Given the description of an element on the screen output the (x, y) to click on. 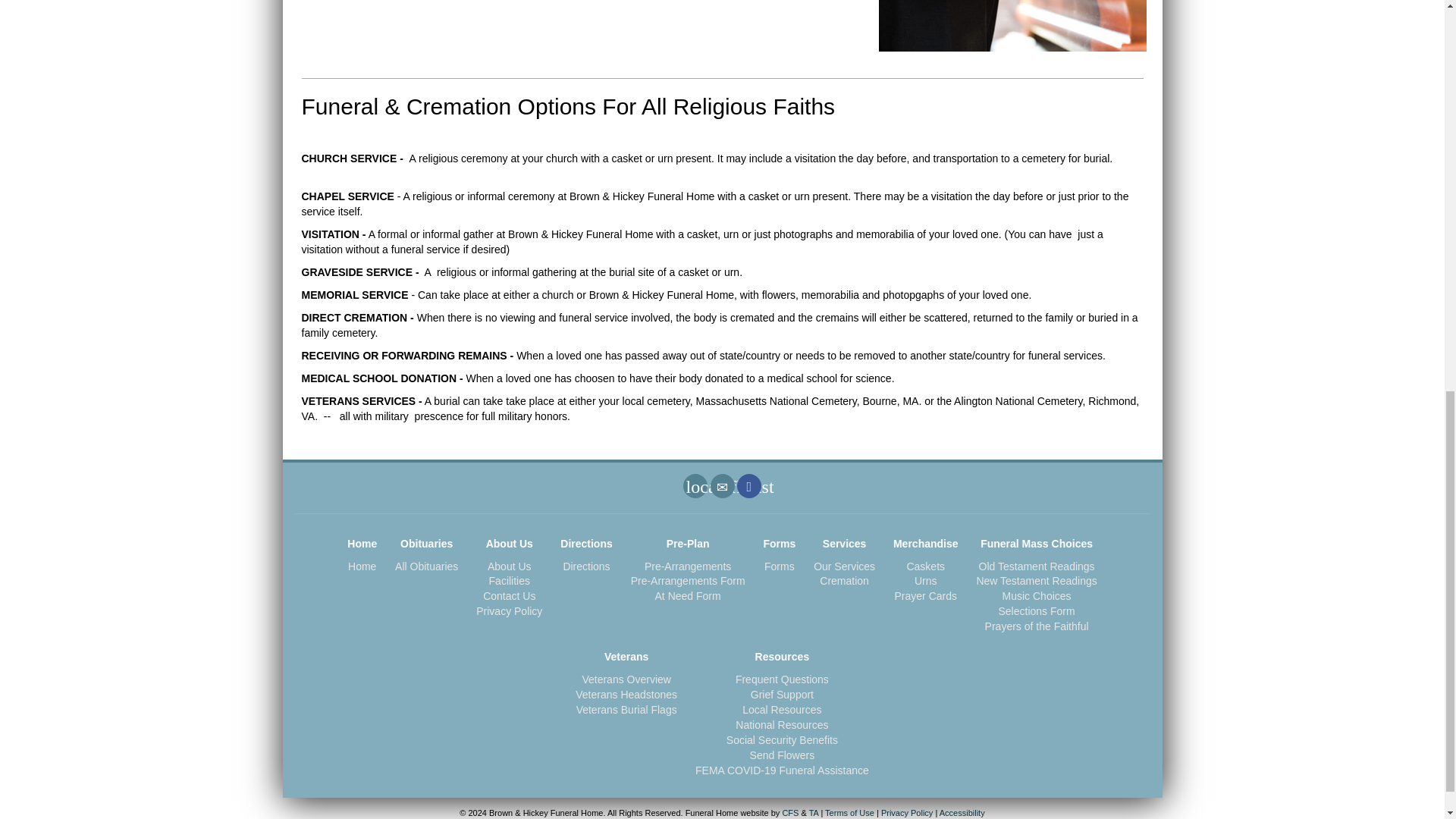
Contact Us (721, 485)
Send Flowers (694, 485)
